Given the description of an element on the screen output the (x, y) to click on. 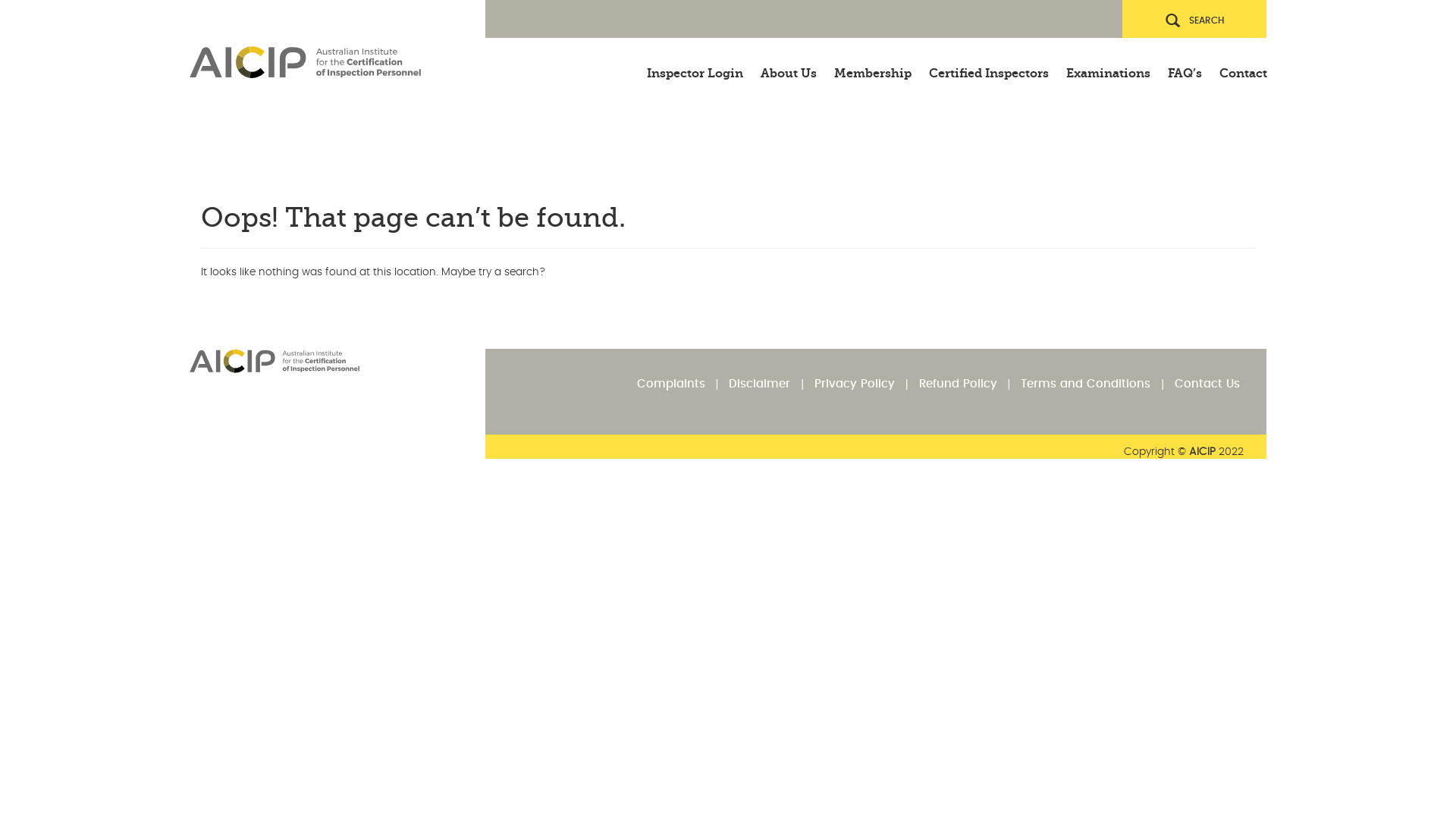
Complaints Element type: text (671, 383)
Privacy Policy Element type: text (854, 383)
Disclaimer Element type: text (759, 383)
Terms and Conditions Element type: text (1085, 383)
About Us Element type: text (788, 65)
  SEARCH Element type: text (1194, 18)
Contact Element type: text (1240, 65)
Inspector Login Element type: text (694, 65)
Certified Inspectors Element type: text (988, 65)
Contact Us Element type: text (1206, 383)
Membership Element type: text (872, 65)
Examinations Element type: text (1107, 65)
Refund Policy Element type: text (958, 383)
